Given the description of an element on the screen output the (x, y) to click on. 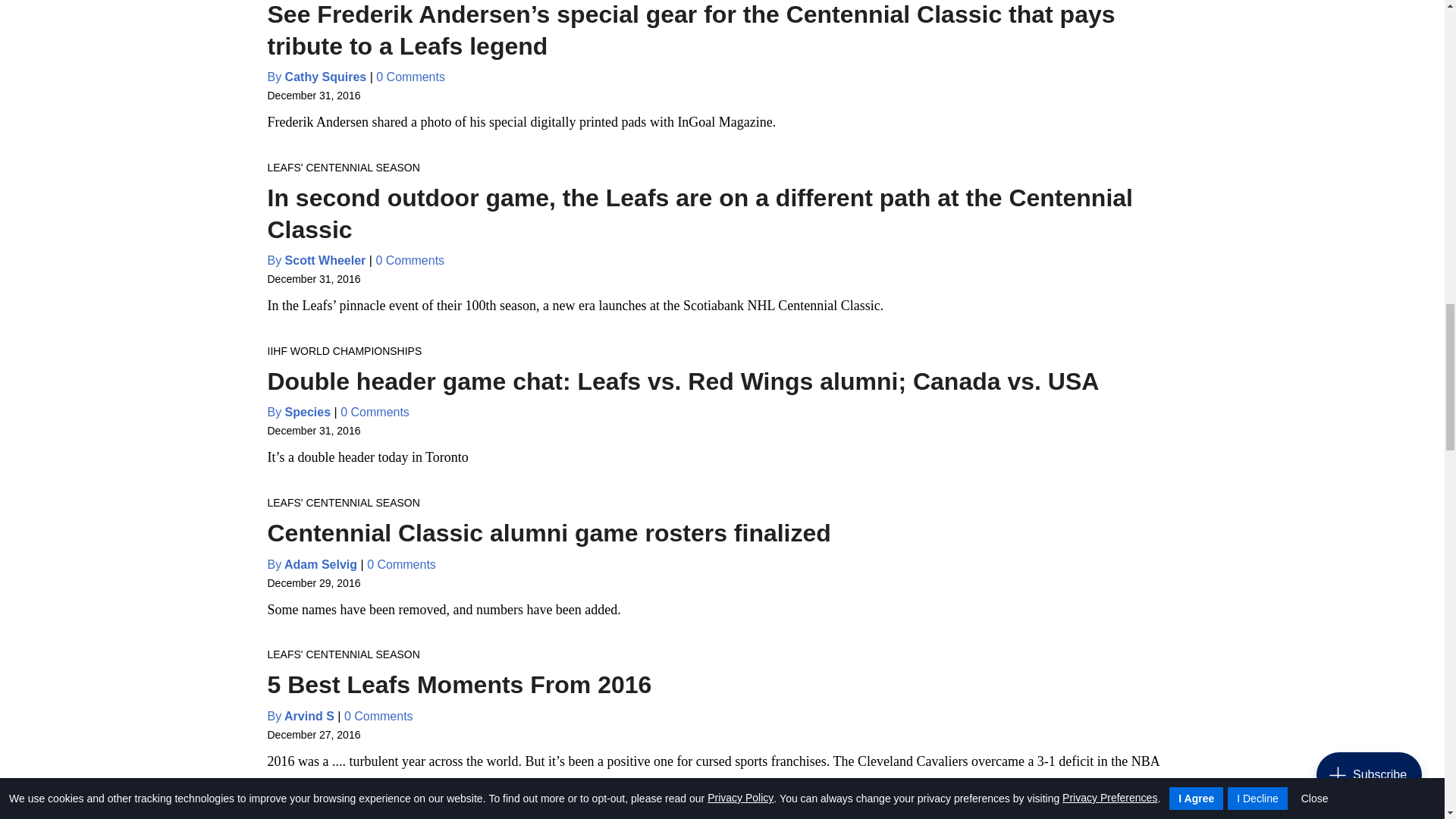
31 December, 2016 (312, 430)
27 December, 2016 (312, 734)
31 December, 2016 (312, 95)
31 December, 2016 (312, 278)
29 December, 2016 (312, 582)
